Given the description of an element on the screen output the (x, y) to click on. 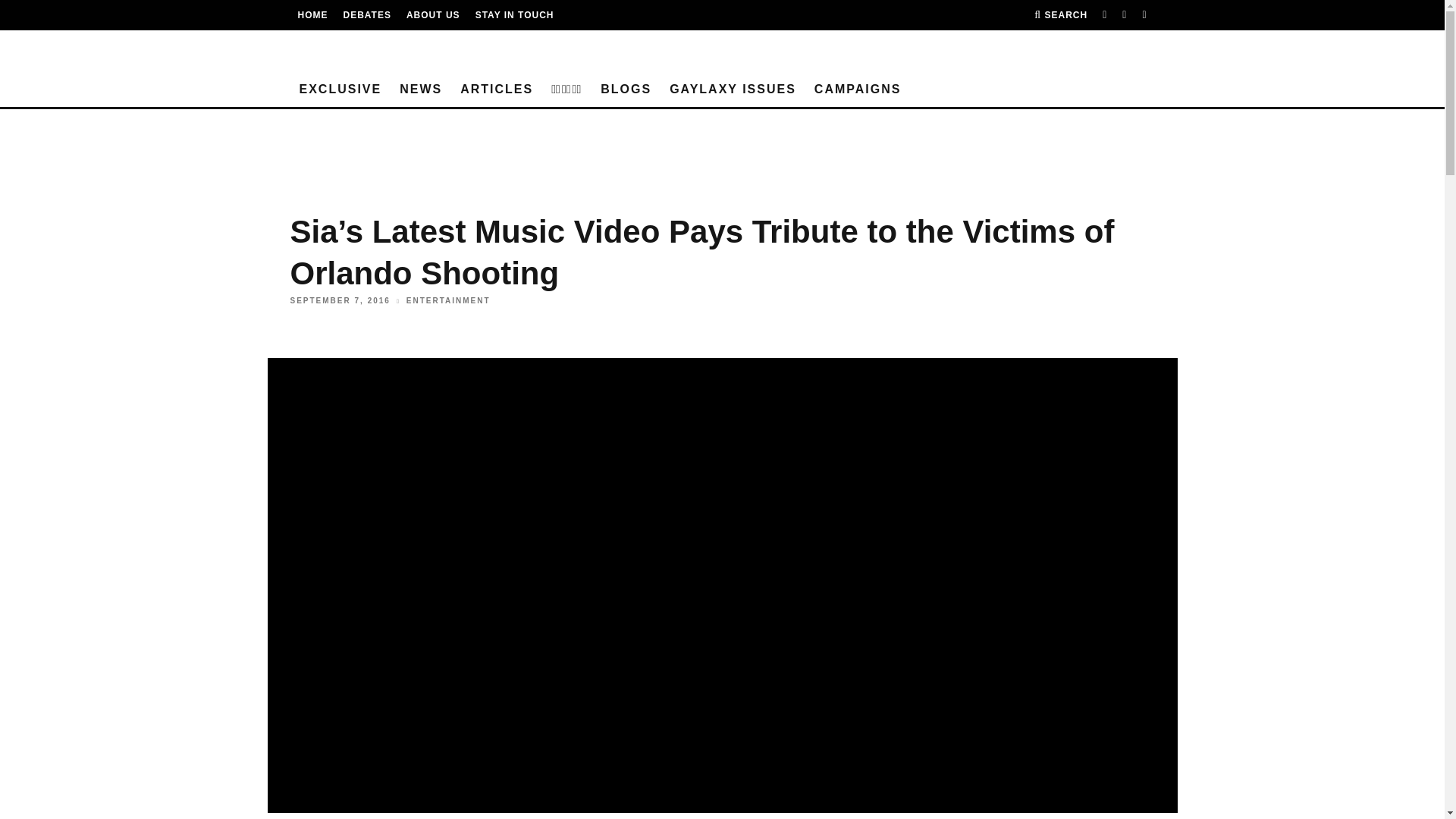
DEBATES (366, 15)
Campaign (858, 89)
Search (1060, 15)
HOME (312, 15)
SEARCH (1060, 15)
ABOUT US (433, 15)
View all posts in Entertainment (448, 301)
EXCLUSIVE (339, 89)
STAY IN TOUCH (515, 15)
